Given the description of an element on the screen output the (x, y) to click on. 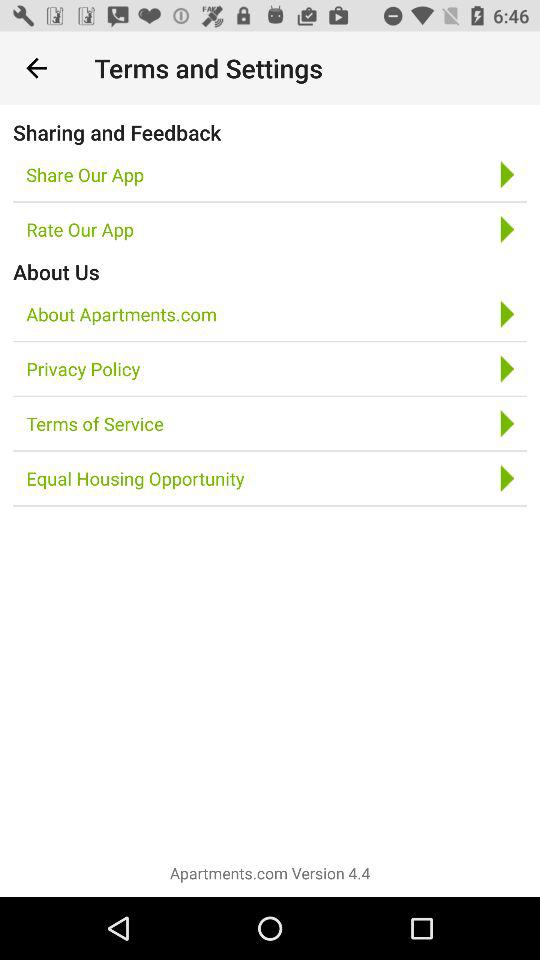
turn off equal housing opportunity item (135, 478)
